Given the description of an element on the screen output the (x, y) to click on. 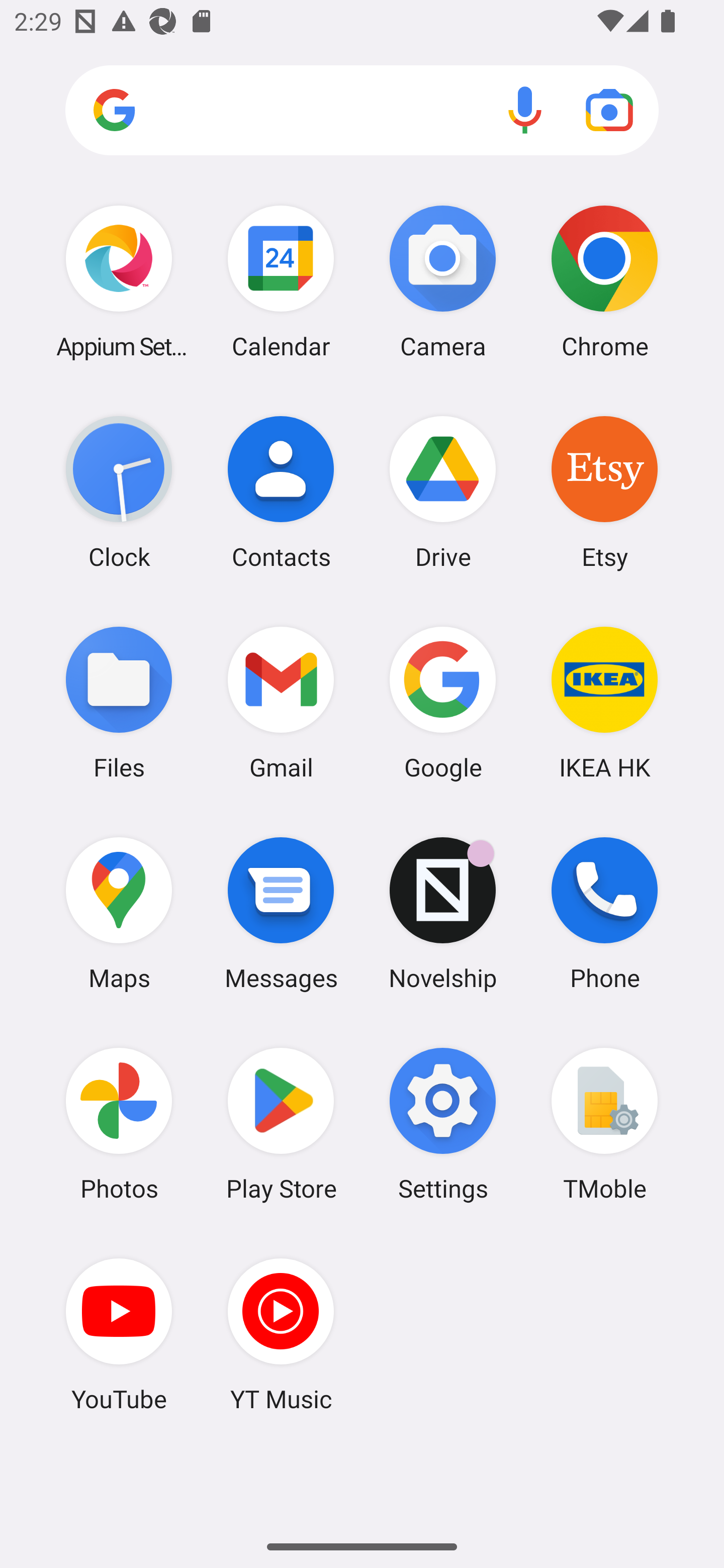
Search apps, web and more (361, 110)
Voice search (524, 109)
Google Lens (608, 109)
Appium Settings (118, 281)
Calendar (280, 281)
Camera (443, 281)
Chrome (604, 281)
Clock (118, 492)
Contacts (280, 492)
Drive (443, 492)
Etsy (604, 492)
Files (118, 702)
Gmail (280, 702)
Google (443, 702)
IKEA HK (604, 702)
Maps (118, 913)
Messages (280, 913)
Novelship Novelship has 1 notification (443, 913)
Phone (604, 913)
Photos (118, 1124)
Play Store (280, 1124)
Settings (443, 1124)
TMoble (604, 1124)
YouTube (118, 1334)
YT Music (280, 1334)
